Given the description of an element on the screen output the (x, y) to click on. 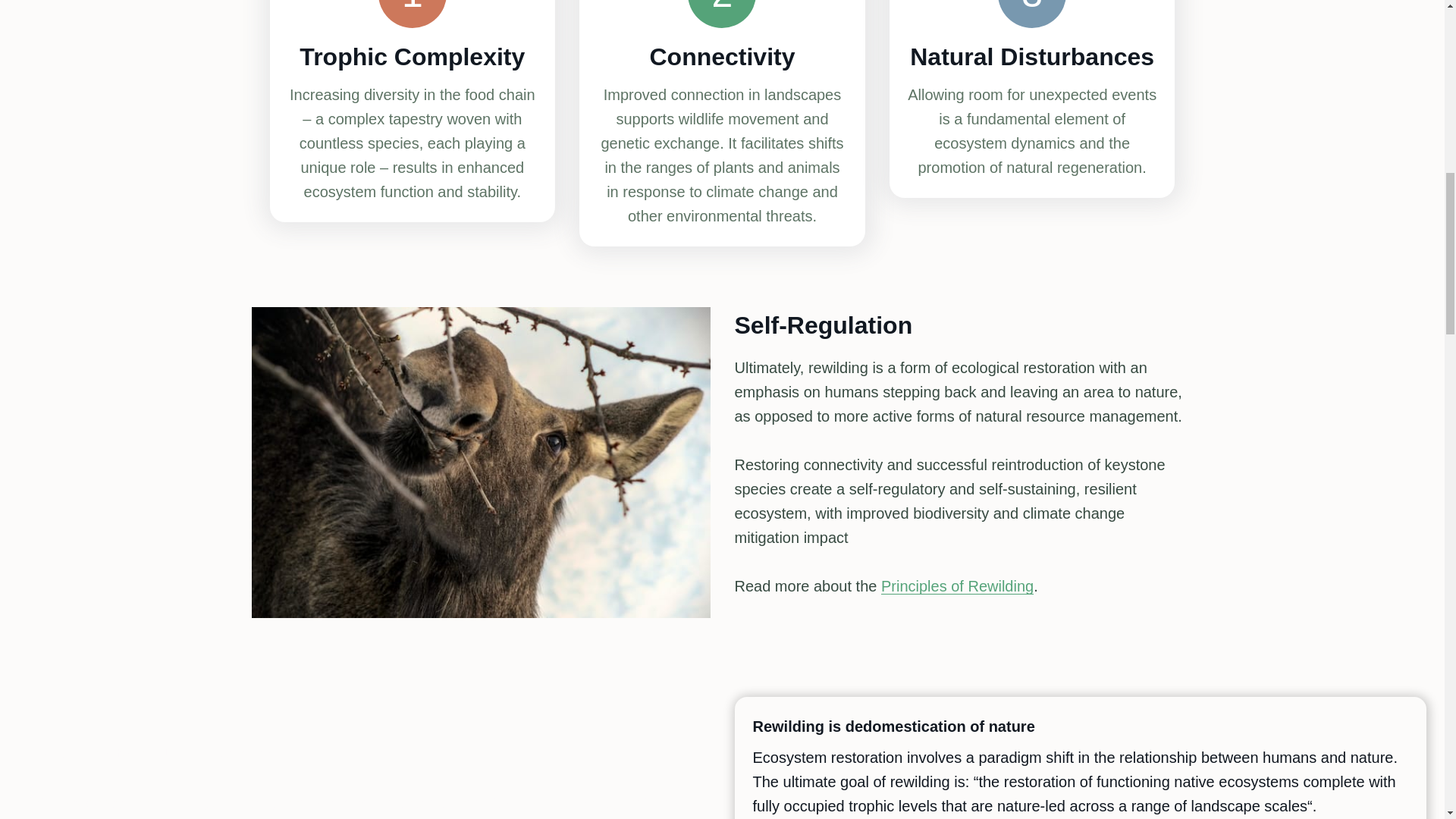
Principles of Rewilding (956, 586)
